Given the description of an element on the screen output the (x, y) to click on. 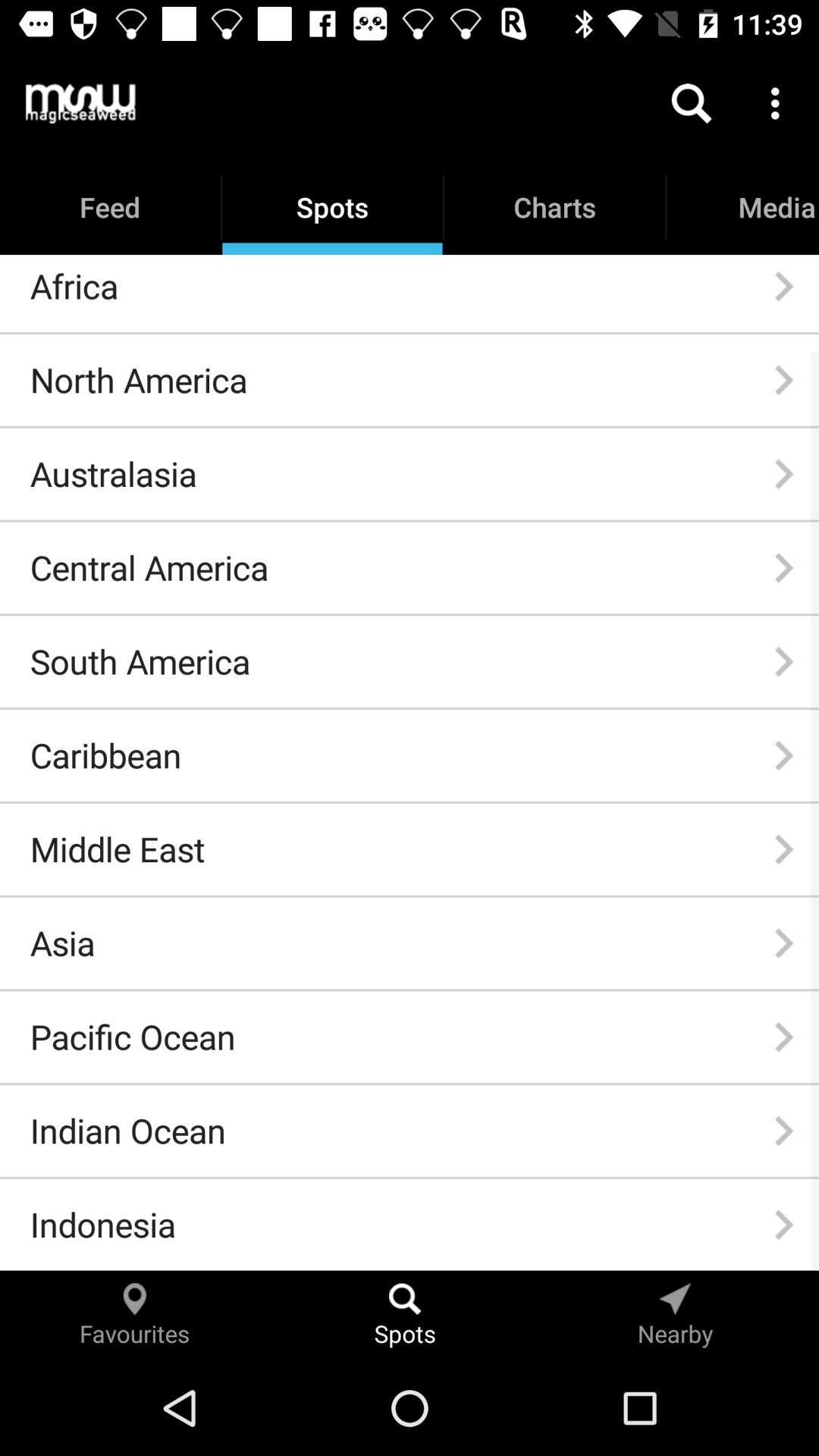
flip to indonesia (102, 1224)
